Given the description of an element on the screen output the (x, y) to click on. 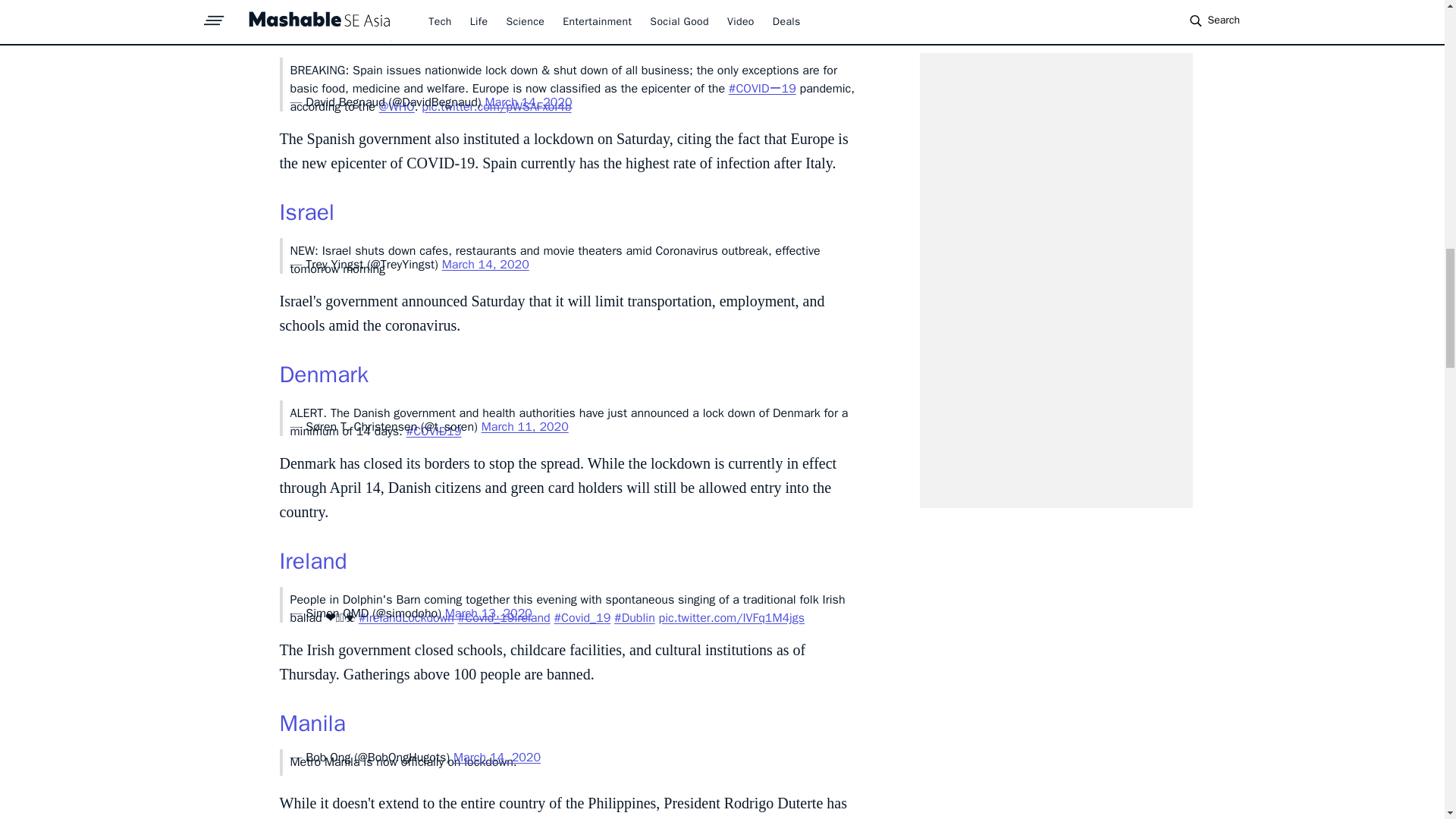
Spain (306, 31)
March 14, 2020 (528, 102)
Israel (306, 212)
March 14, 2020 (485, 264)
